Given the description of an element on the screen output the (x, y) to click on. 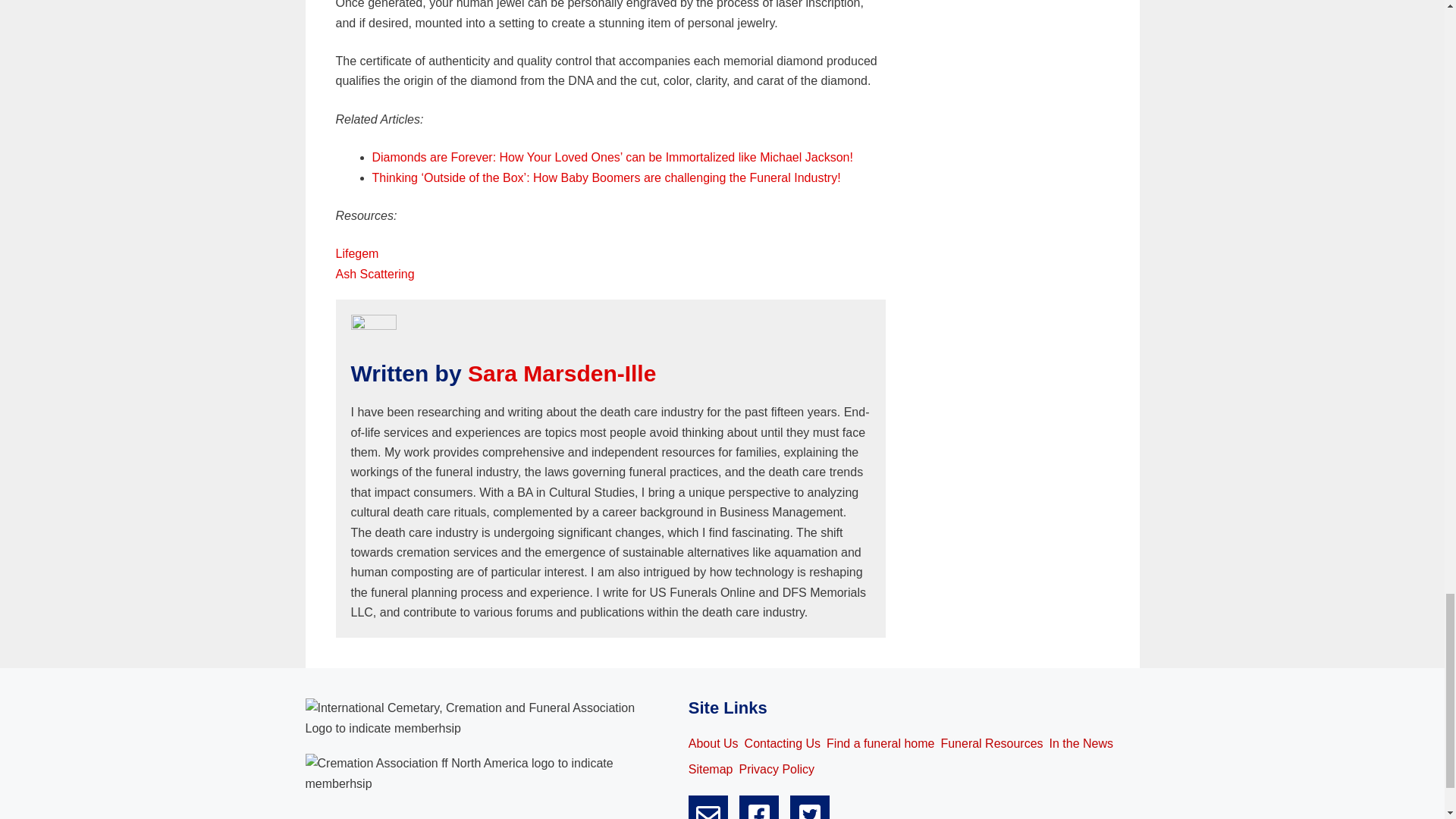
Ash Scattering (373, 273)
Lifegem (356, 253)
Sara Marsden-Ille (561, 373)
Contacting Us (782, 743)
In the News (1081, 743)
Sitemap (710, 769)
Funeral Resources (991, 743)
About Us (713, 743)
Posts by Sara Marsden-Ille (561, 373)
Find a funeral home (880, 743)
